Given the description of an element on the screen output the (x, y) to click on. 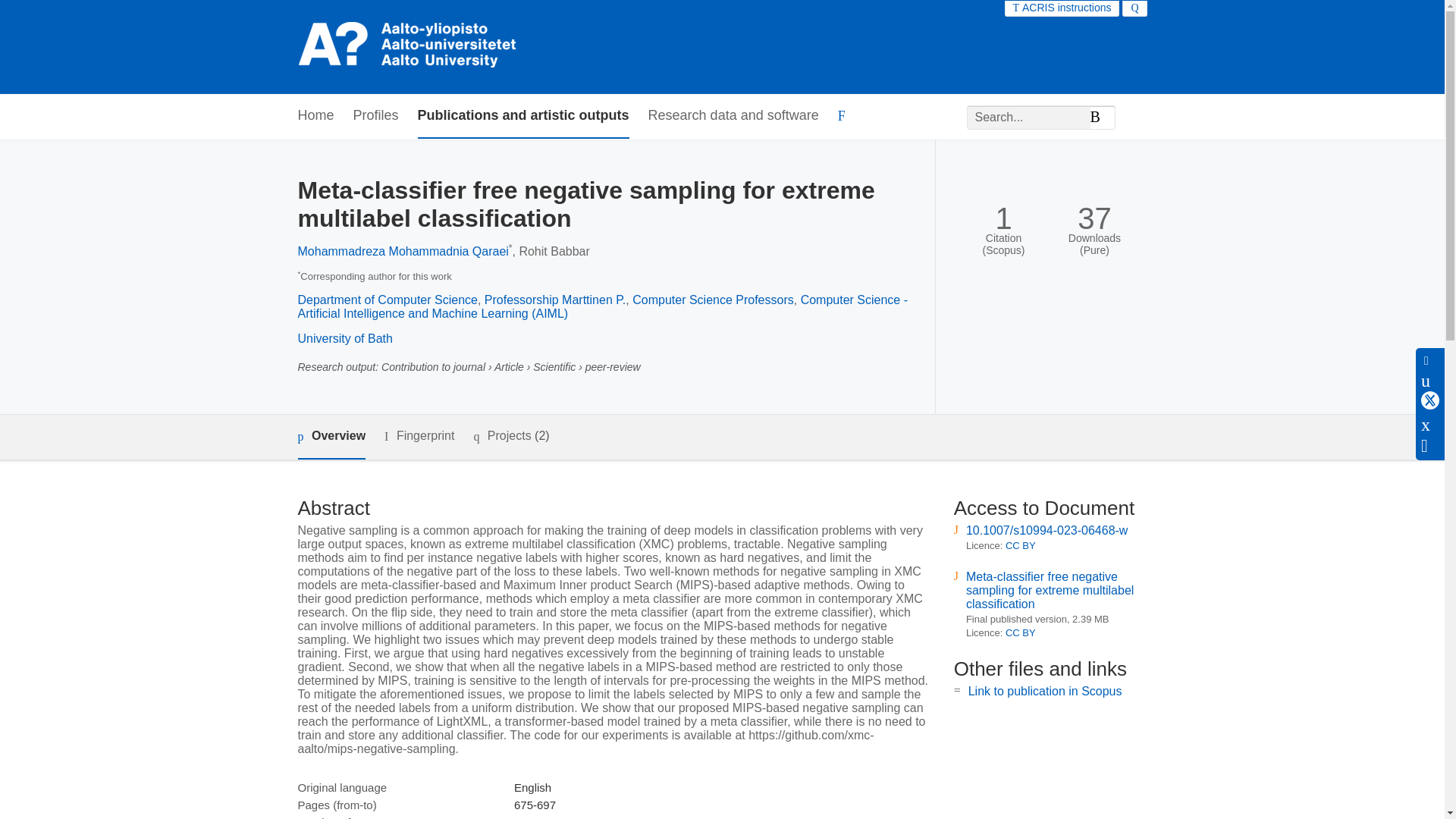
CC BY (1020, 632)
University of Bath (344, 338)
Mohammadreza Mohammadnia Qaraei (402, 250)
Department of Computer Science (387, 299)
Computer Science Professors (712, 299)
Aalto University's research portal Home (409, 46)
Research data and software (732, 116)
ACRIS instructions (1062, 7)
CC BY (1020, 545)
Fingerprint (419, 435)
Overview (331, 436)
Link to publication in Scopus (1045, 690)
Profiles (375, 116)
